Given the description of an element on the screen output the (x, y) to click on. 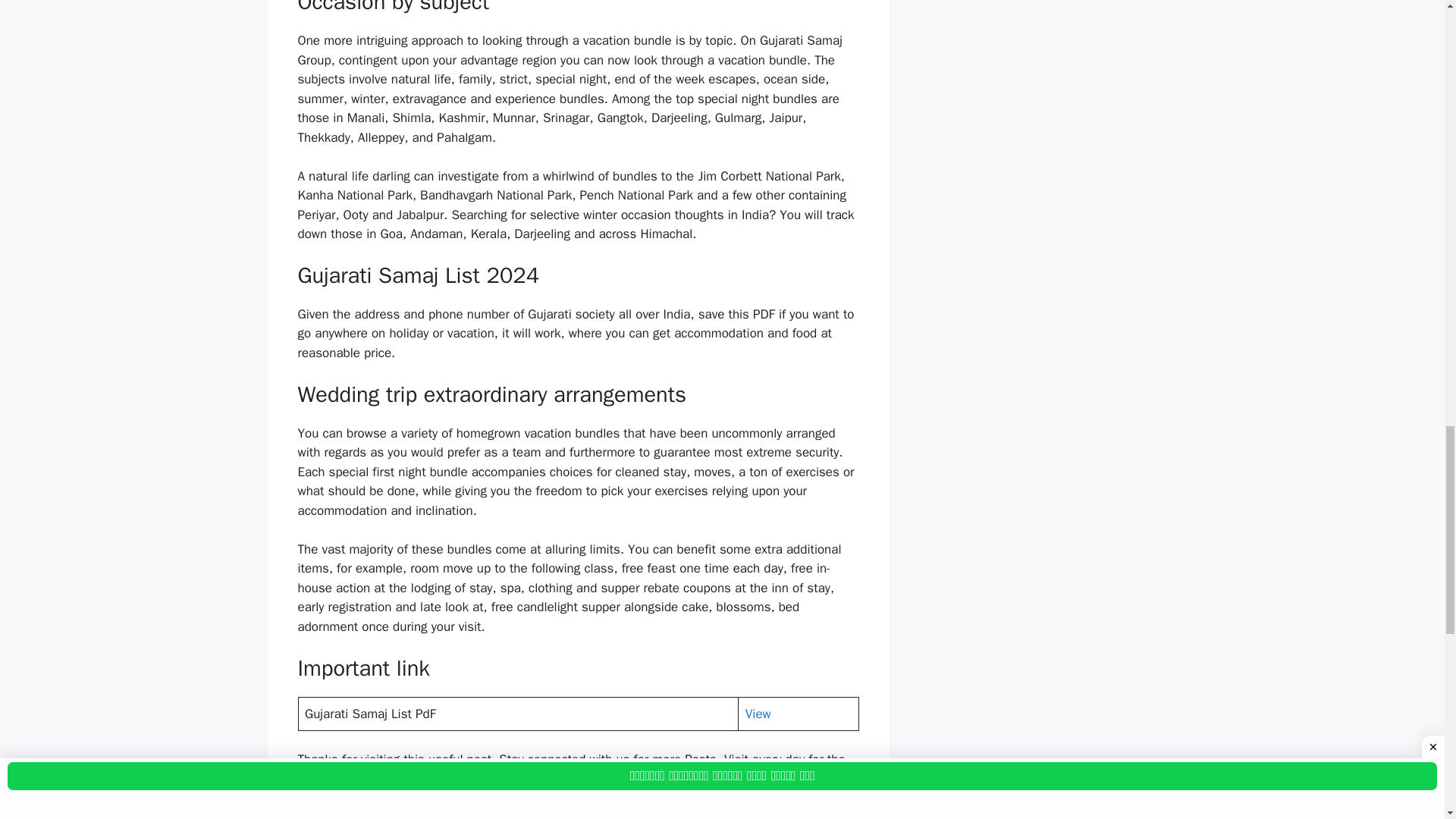
View (758, 713)
